Given the description of an element on the screen output the (x, y) to click on. 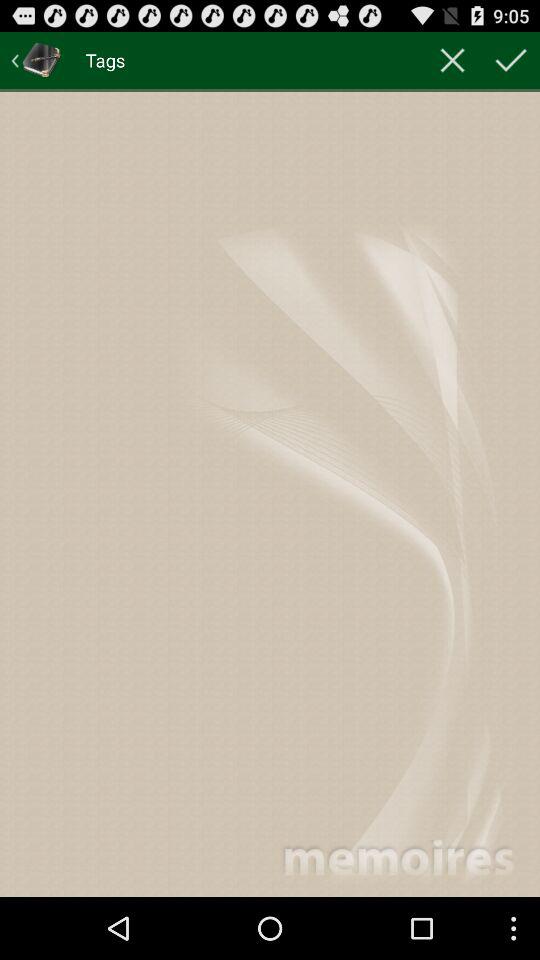
go to previous (36, 60)
